Given the description of an element on the screen output the (x, y) to click on. 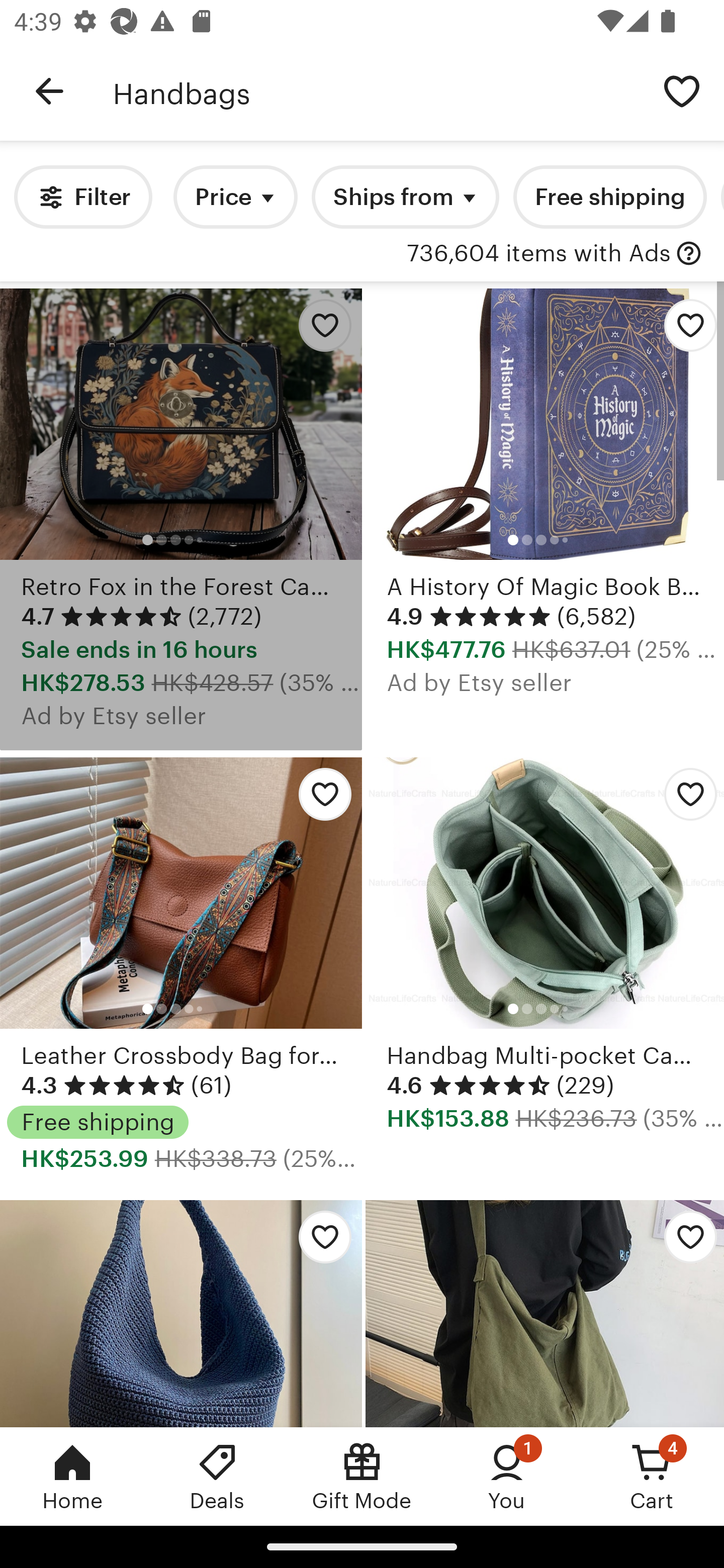
Navigate up (49, 91)
Save search (681, 90)
Handbags (375, 91)
Filter (82, 197)
Price (235, 197)
Ships from (405, 197)
Free shipping (609, 197)
736,604 items with Ads (538, 253)
with Ads (688, 253)
Deals (216, 1475)
Gift Mode (361, 1475)
You, 1 new notification You (506, 1475)
Cart, 4 new notifications Cart (651, 1475)
